Given the description of an element on the screen output the (x, y) to click on. 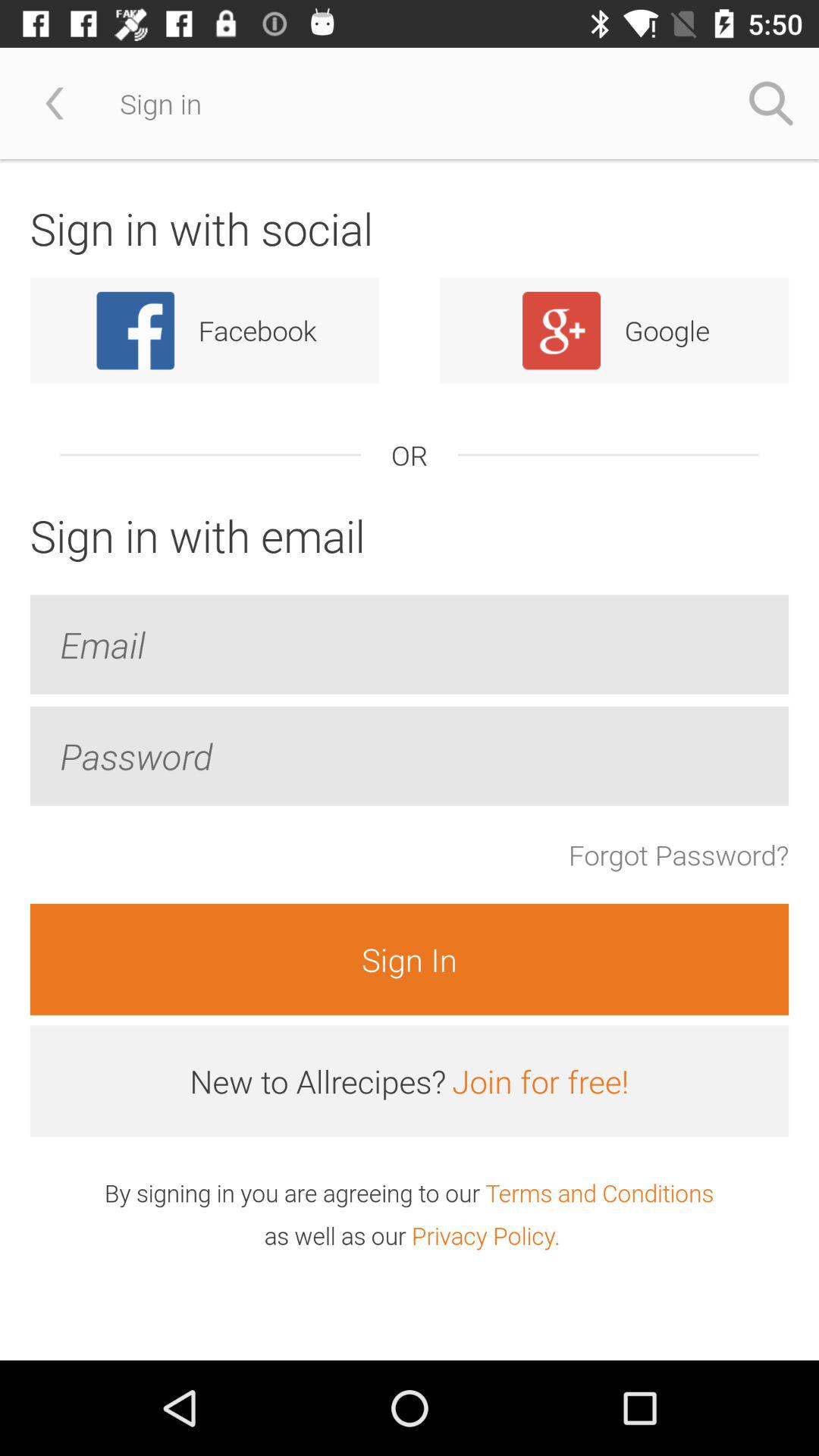
turn off item above the sign in with (771, 103)
